Given the description of an element on the screen output the (x, y) to click on. 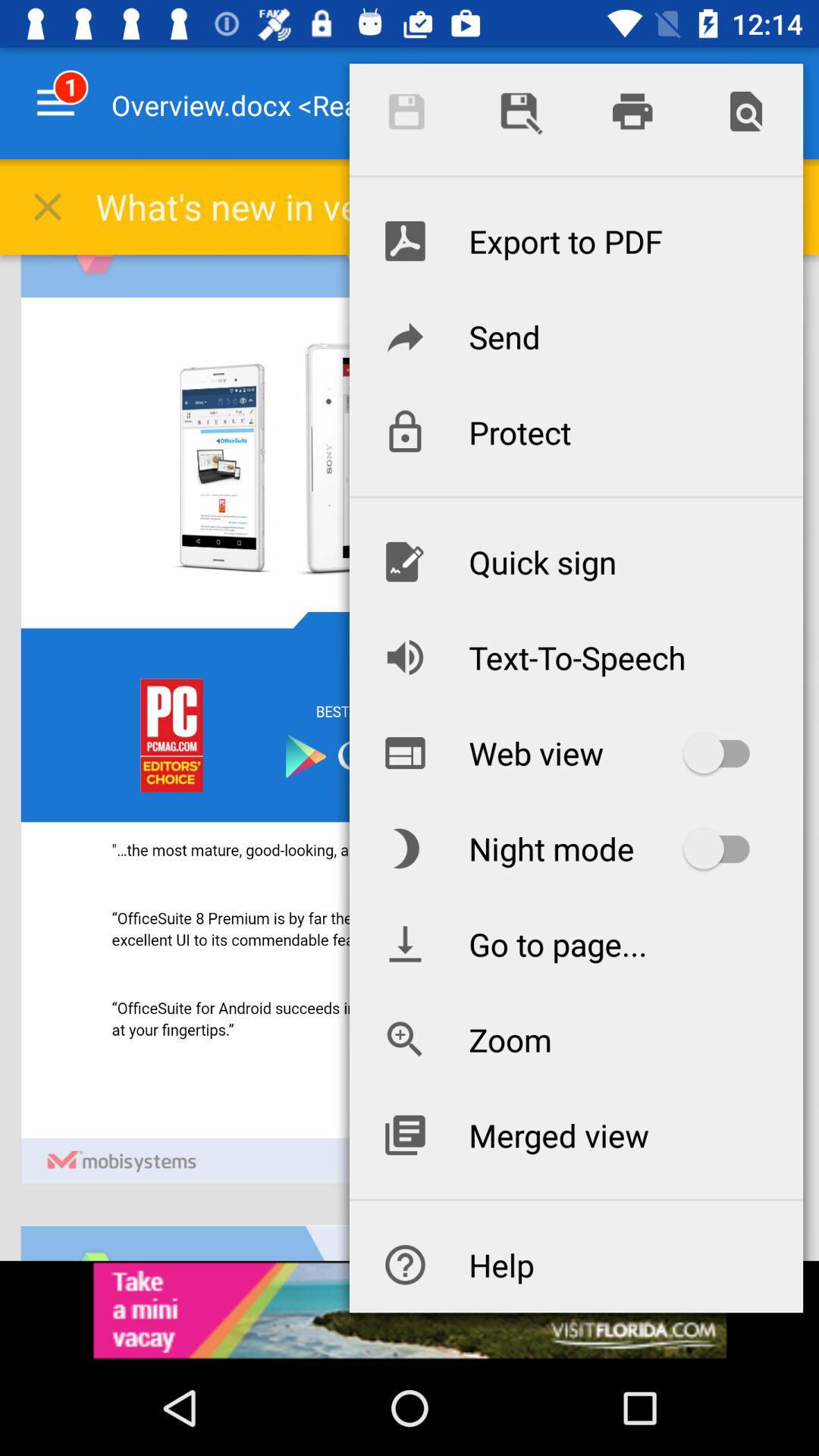
tap the item below web view (576, 848)
